Given the description of an element on the screen output the (x, y) to click on. 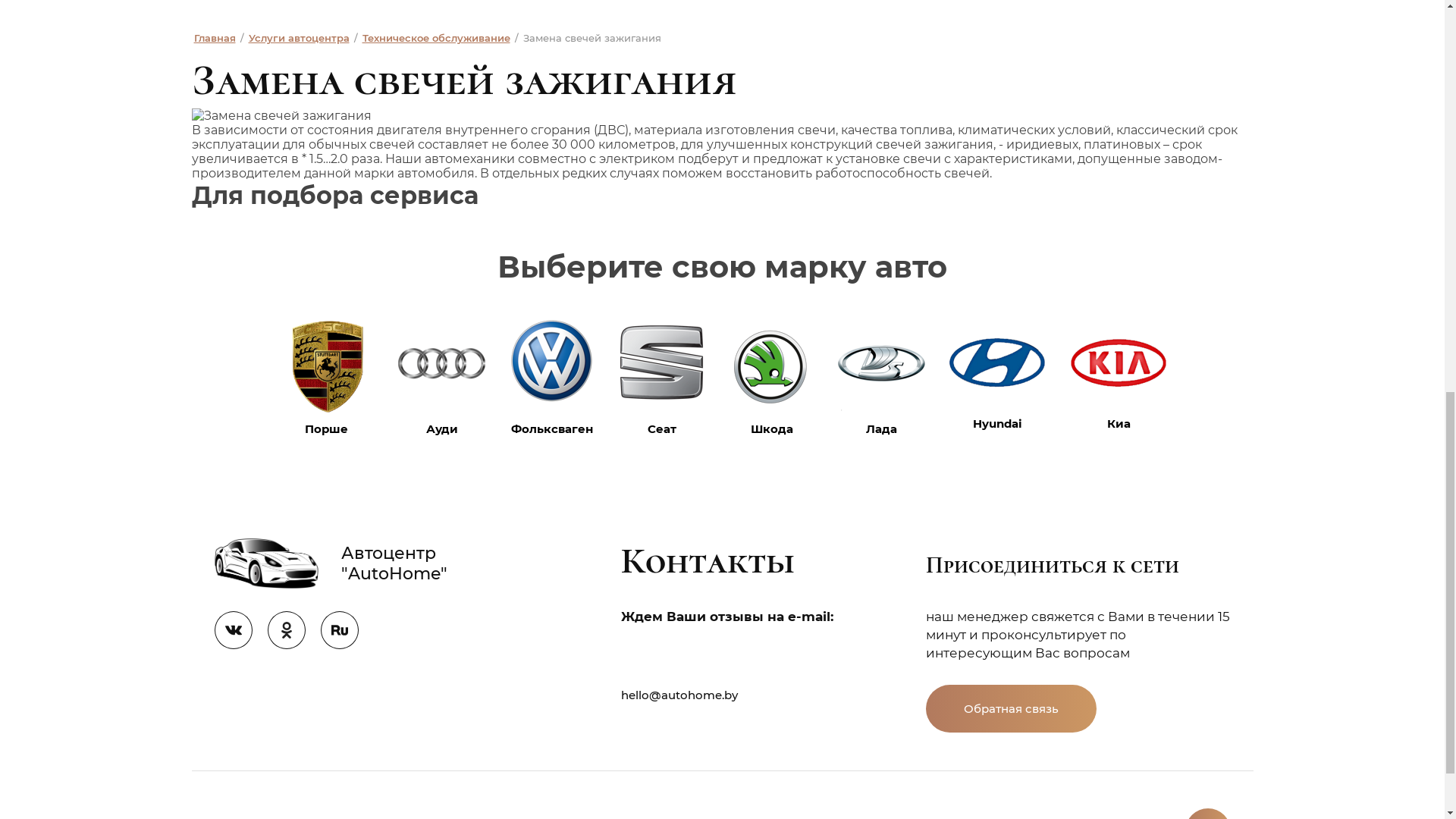
Autohome Element type: text (1146, 375)
